Given the description of an element on the screen output the (x, y) to click on. 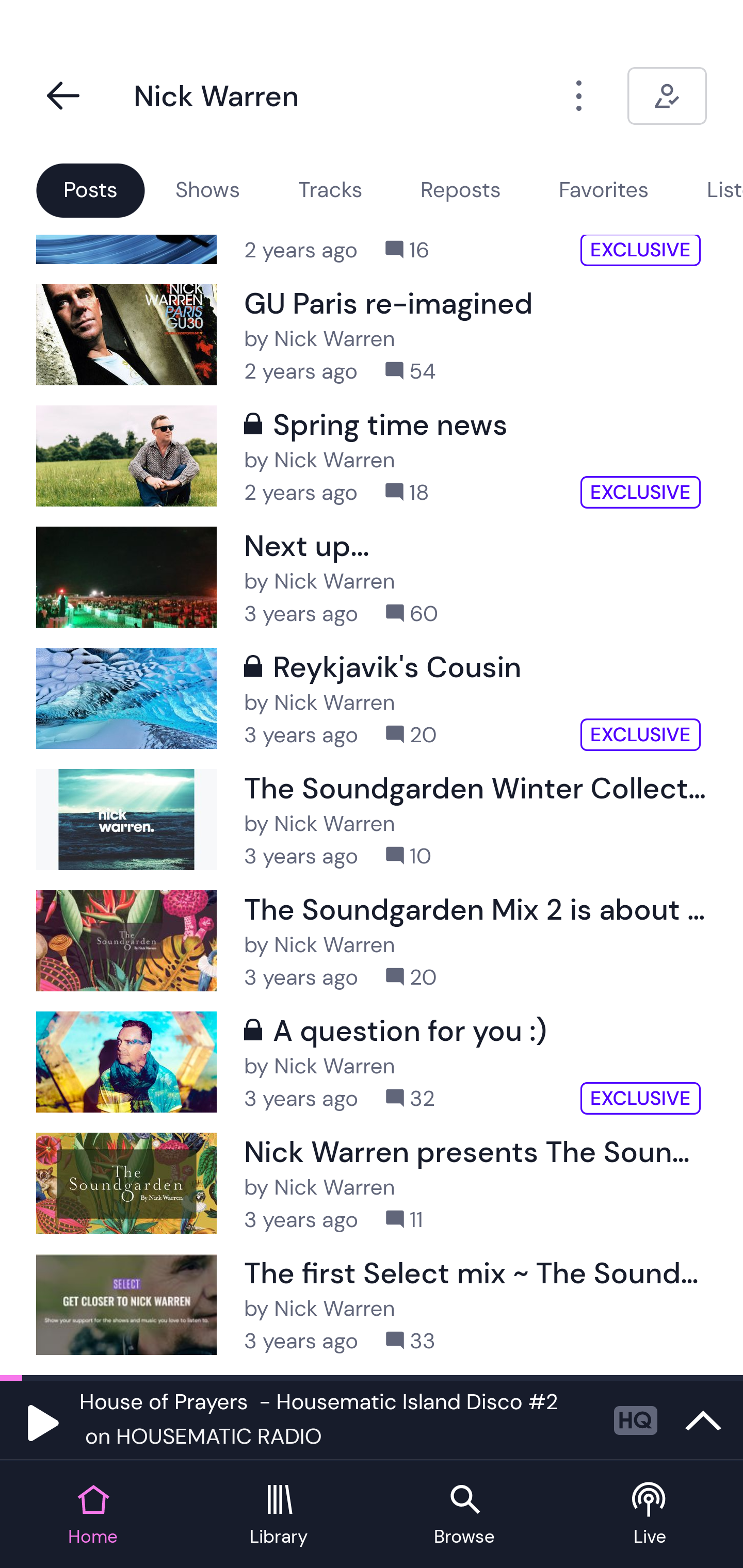
Posts (90, 189)
Shows (207, 189)
Tracks (329, 189)
Reposts (460, 189)
Favorites (603, 189)
Listens (724, 189)
Home tab Home (92, 1515)
Library tab Library (278, 1515)
Browse tab Browse (464, 1515)
Live tab Live (650, 1515)
